Given the description of an element on the screen output the (x, y) to click on. 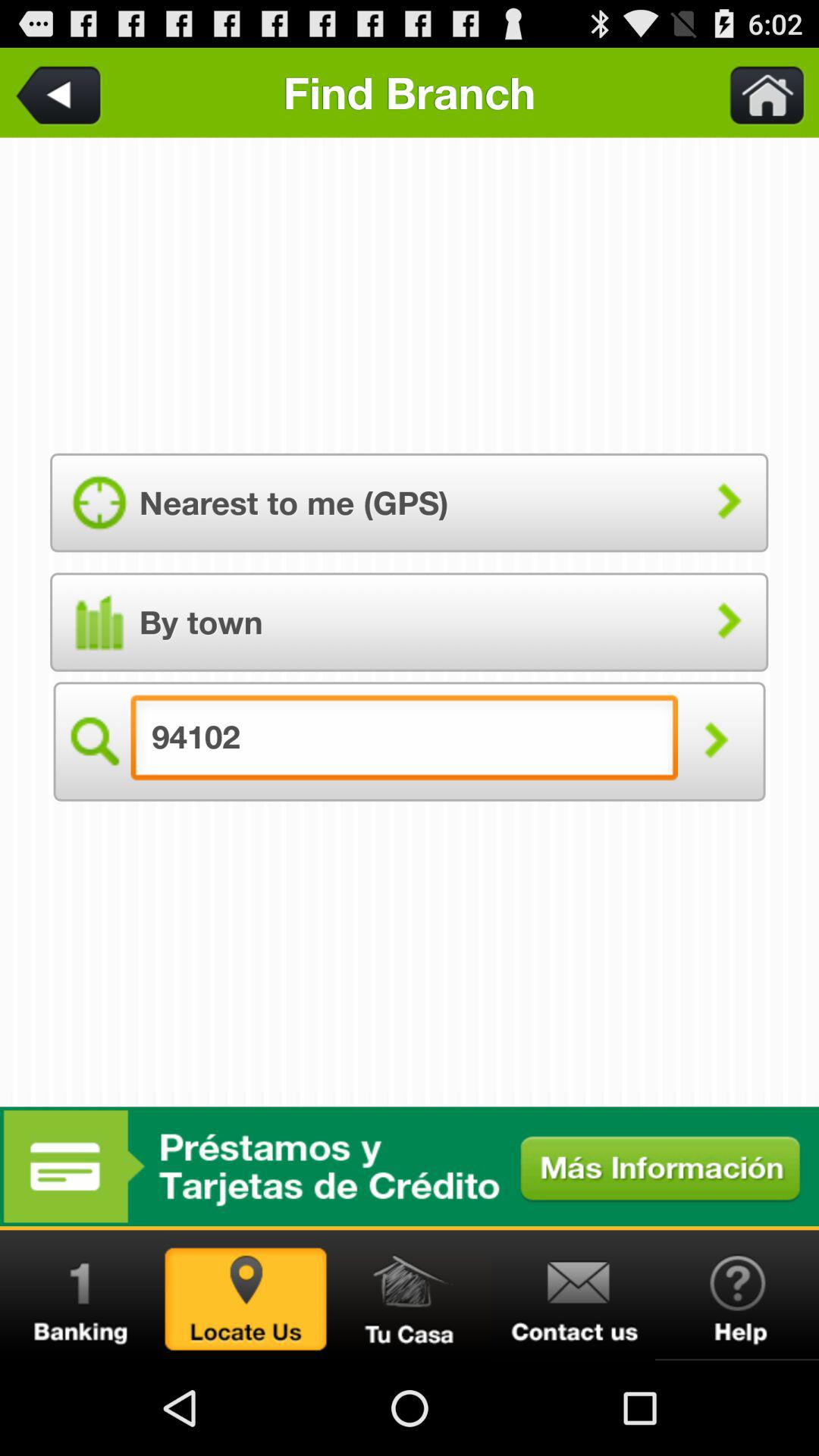
search (92, 741)
